Given the description of an element on the screen output the (x, y) to click on. 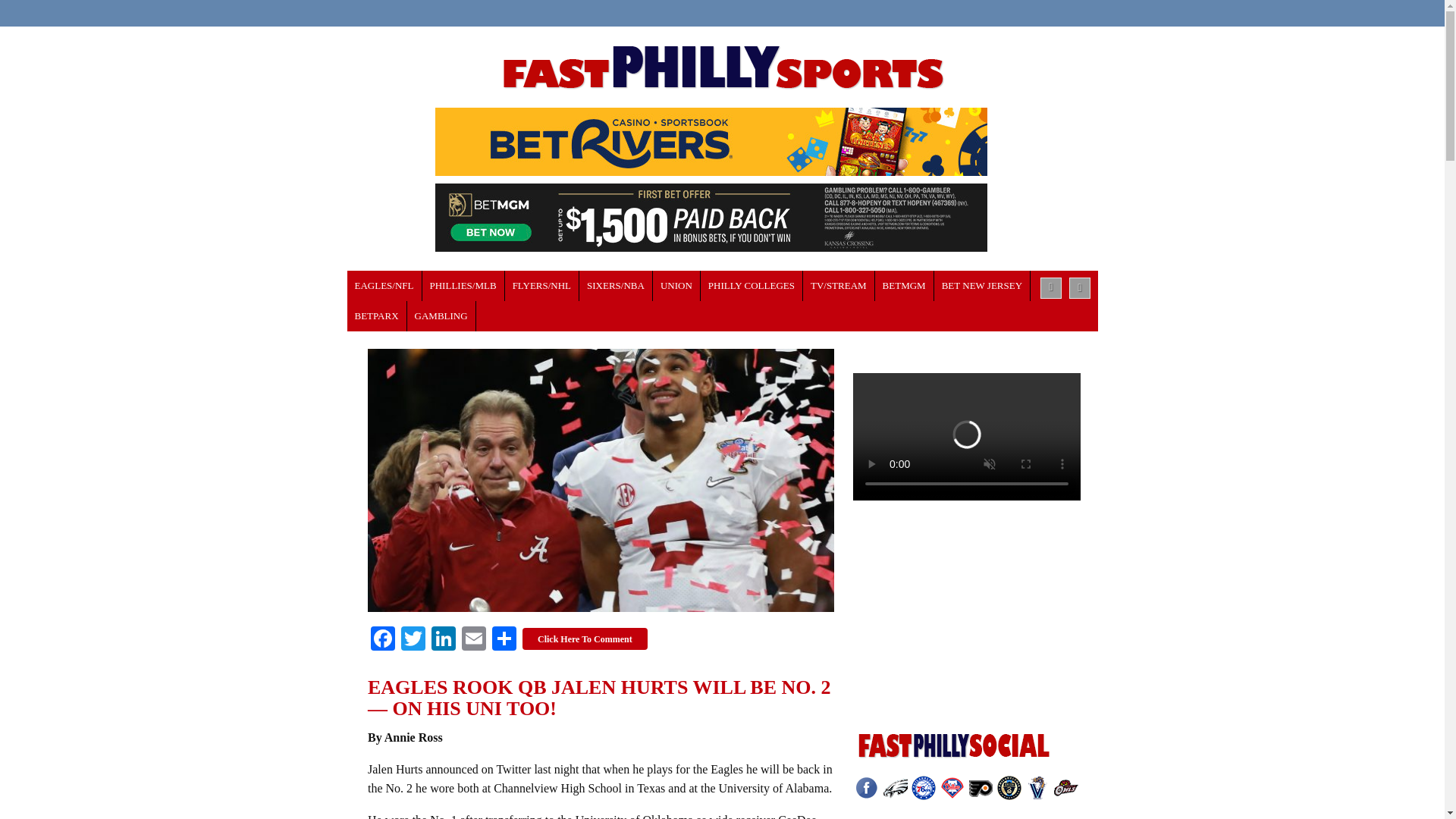
GAMBLING (441, 316)
BET NEW JERSEY (982, 286)
BETPARX (377, 316)
Click Here To Comment (584, 639)
Twitter (412, 640)
Email (473, 640)
Email (473, 640)
UNION (676, 286)
Twitter (412, 640)
BETMGM (904, 286)
